Given the description of an element on the screen output the (x, y) to click on. 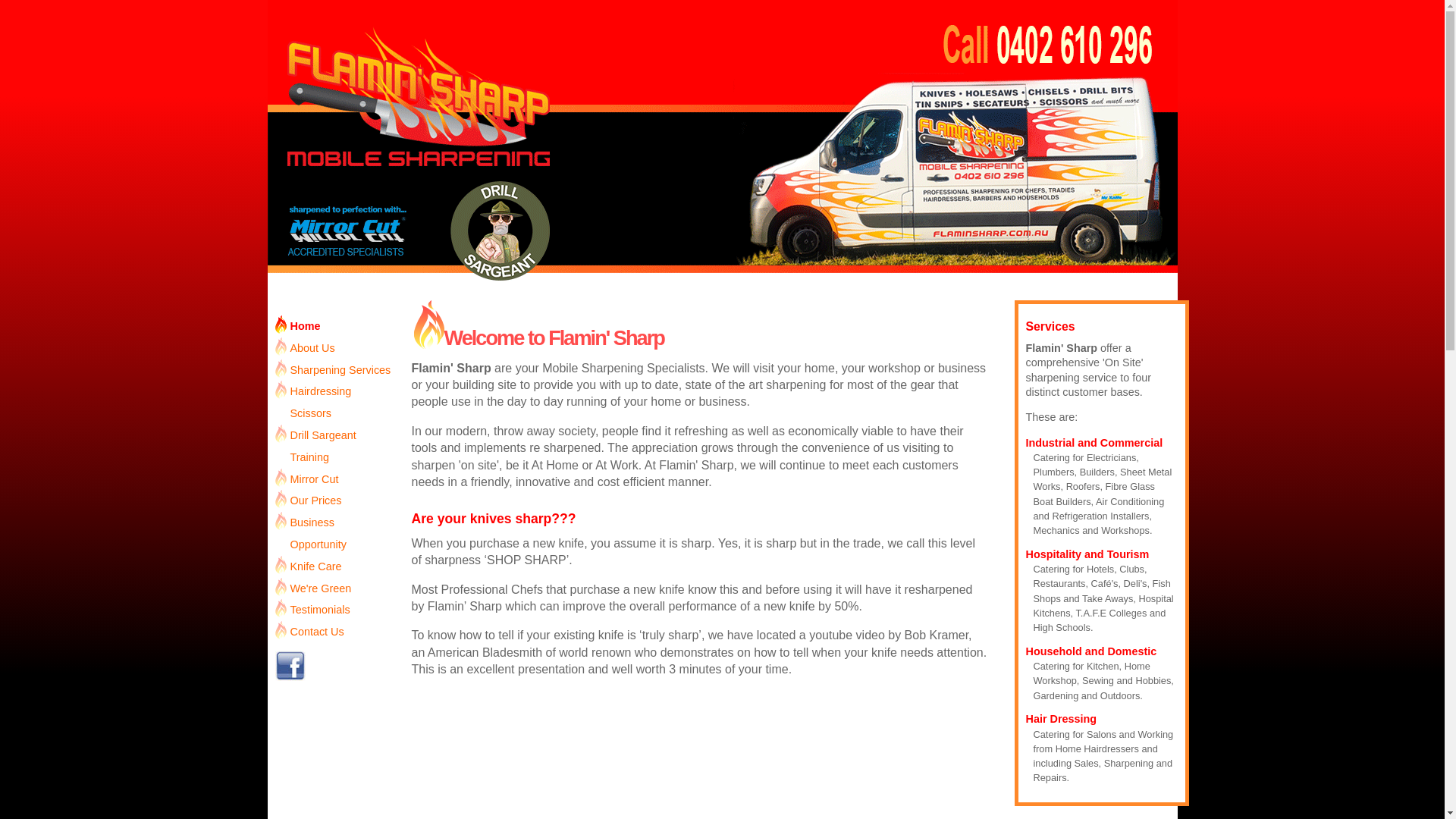
Contact Us Element type: text (333, 632)
Our Prices Element type: text (333, 500)
Testimonials Element type: text (333, 610)
We're Green Element type: text (333, 588)
Home Element type: text (333, 326)
Mirror Cut Element type: text (333, 479)
Business Opportunity Element type: text (333, 533)
Knife Care Element type: text (333, 566)
Sharpening Services Element type: text (333, 370)
Drill Sargeant Training Element type: text (333, 446)
About Us Element type: text (333, 348)
Hairdressing Scissors Element type: text (333, 402)
